Given the description of an element on the screen output the (x, y) to click on. 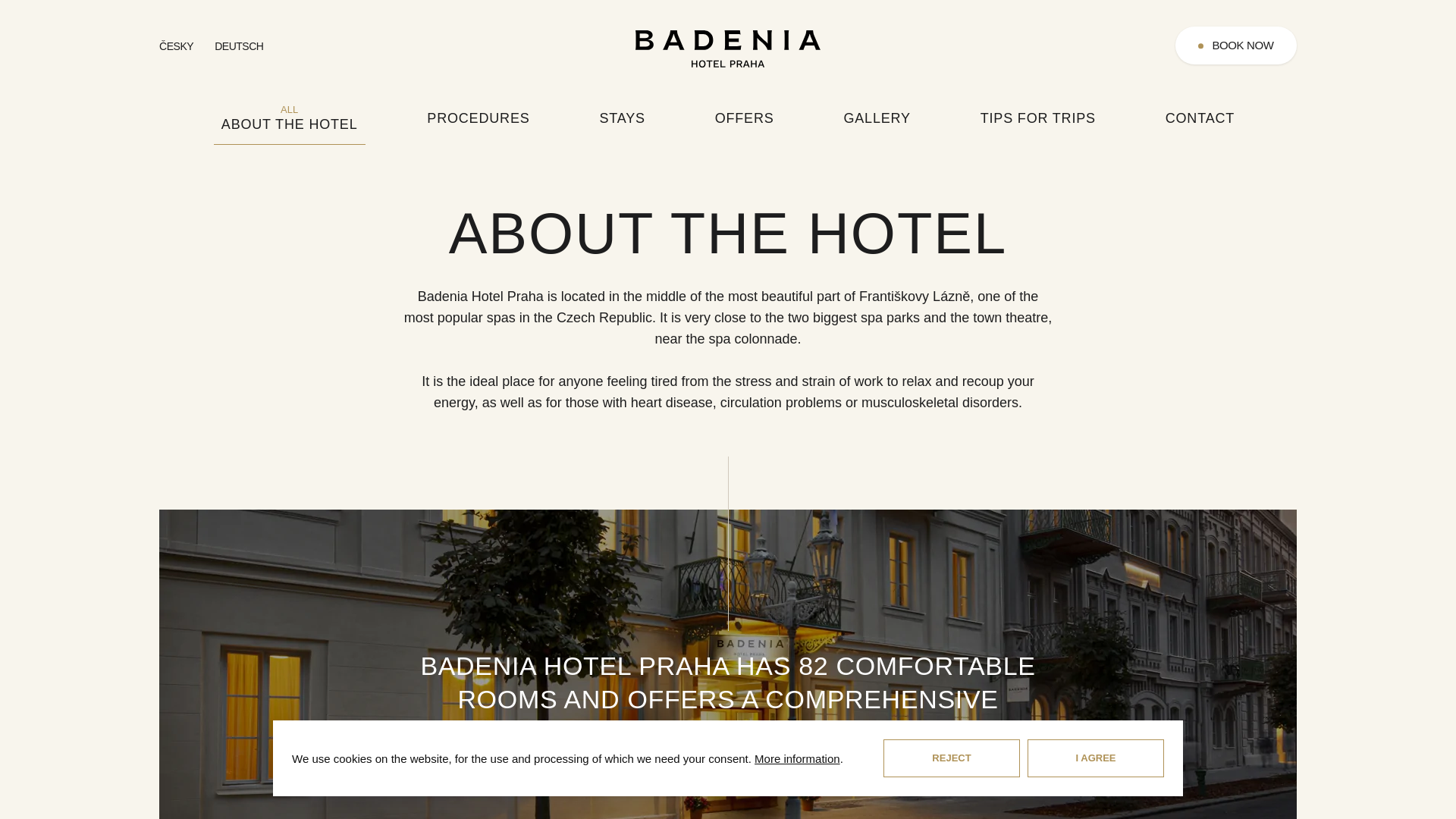
BOOK NOW (1235, 45)
DEUTSCH (238, 46)
ABOUT THE HOTEL (289, 118)
PROCEDURES (478, 118)
TIPS FOR TRIPS (1037, 118)
OFFERS (744, 118)
STAYS (621, 118)
GALLERY (876, 118)
CONTACT (1199, 118)
